Given the description of an element on the screen output the (x, y) to click on. 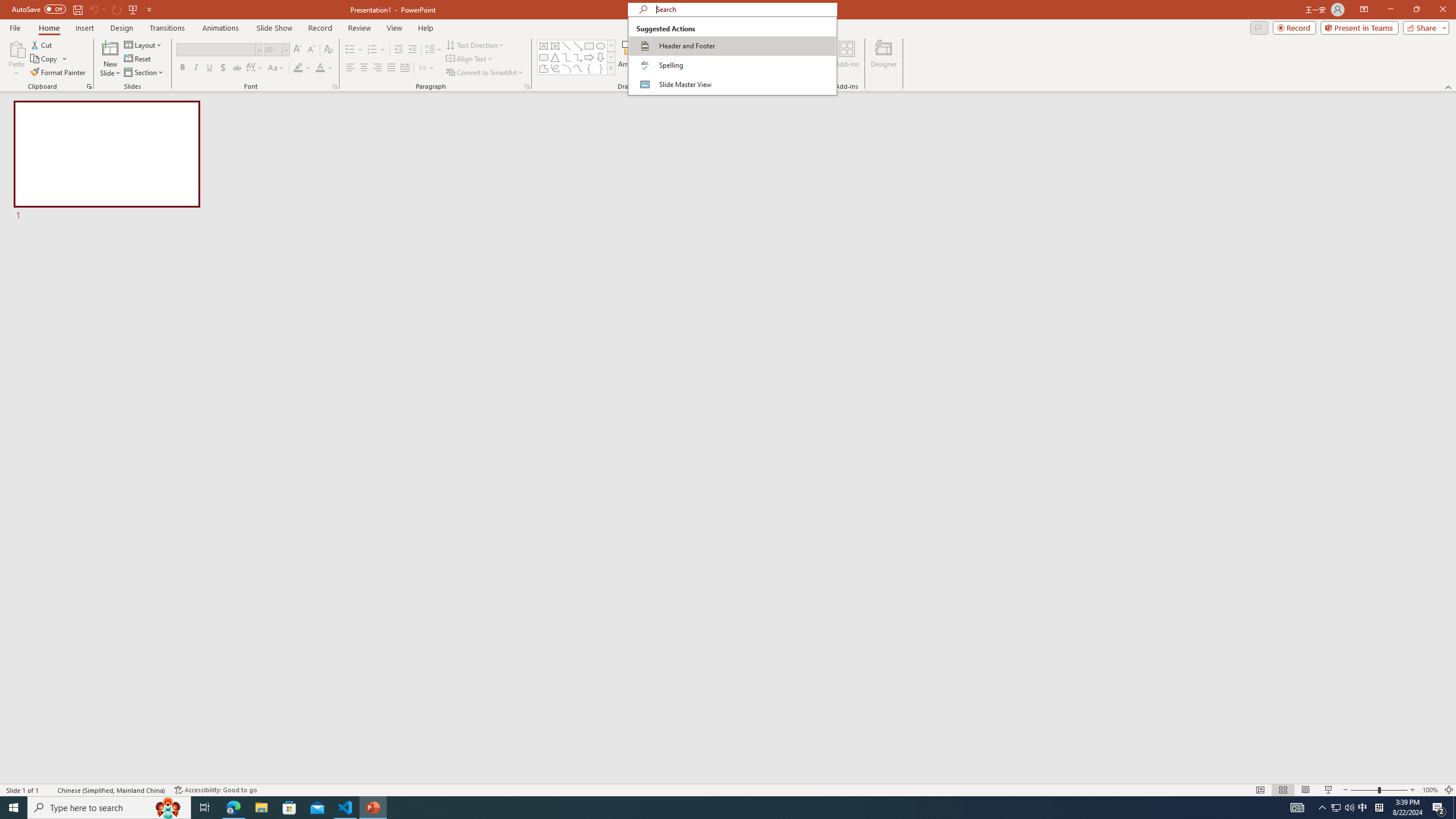
Header and Footer (731, 45)
